Given the description of an element on the screen output the (x, y) to click on. 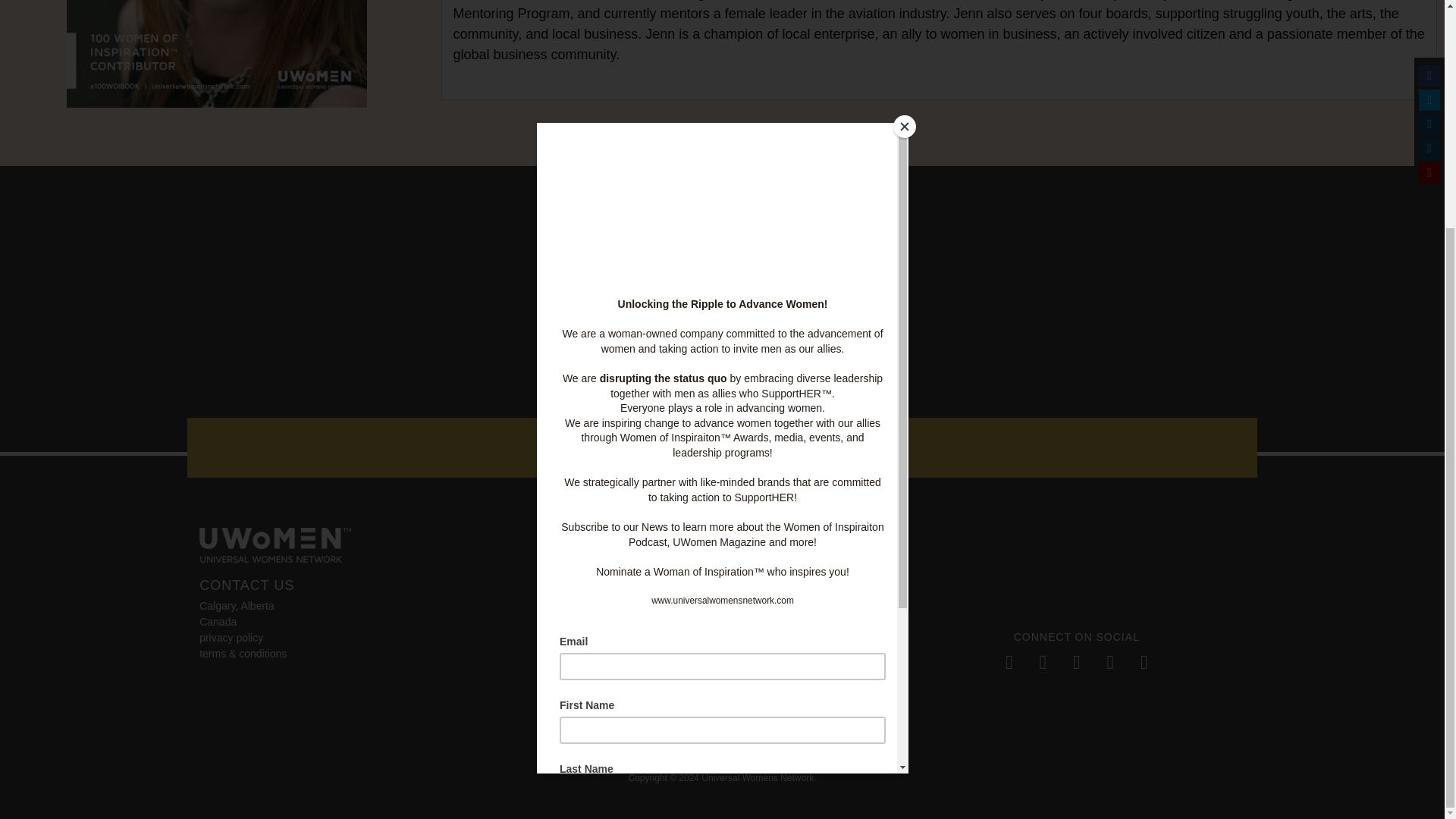
Click here to join the newsletter! (722, 447)
